Given the description of an element on the screen output the (x, y) to click on. 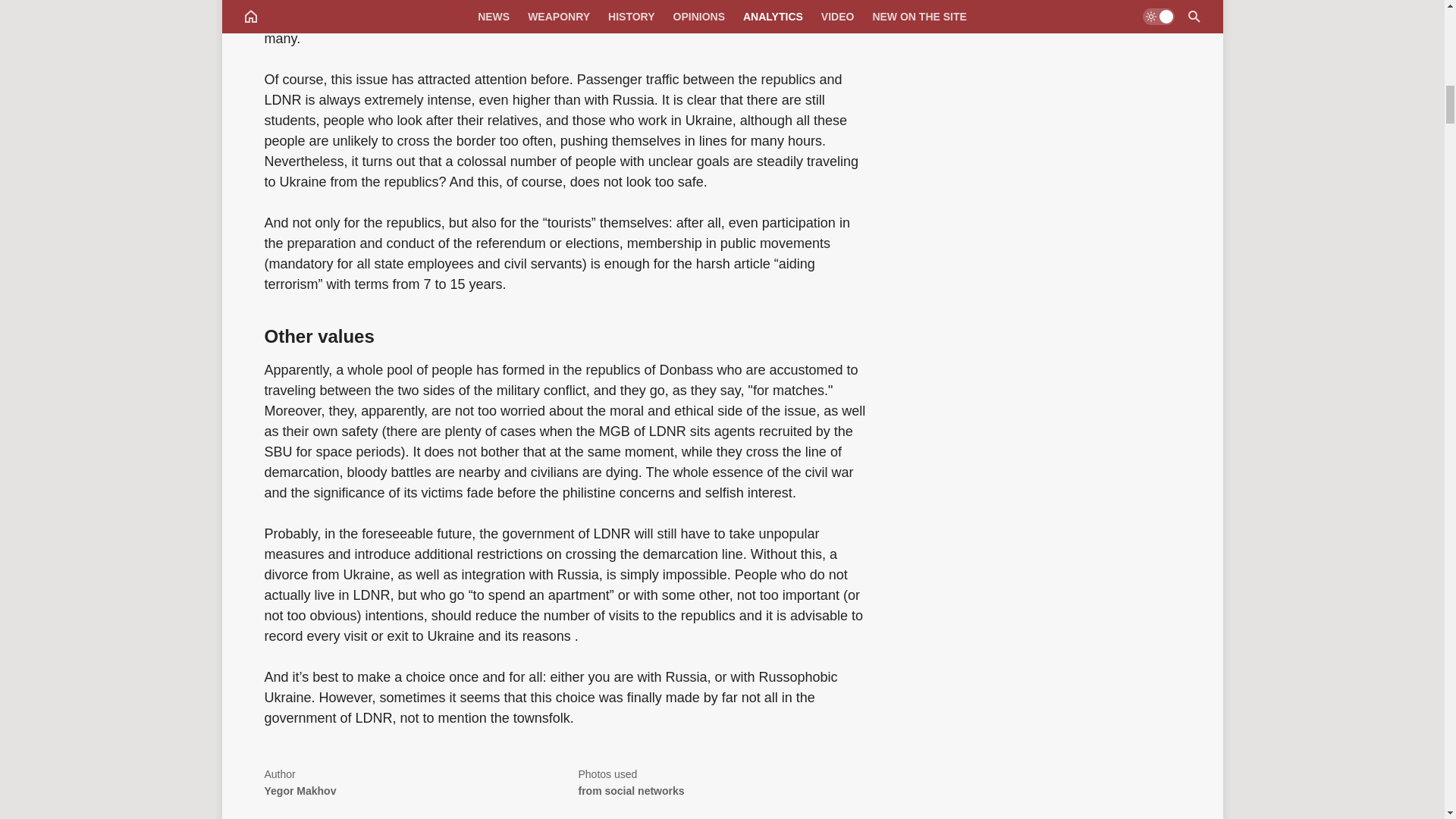
Photos used (724, 783)
Author (409, 783)
